Given the description of an element on the screen output the (x, y) to click on. 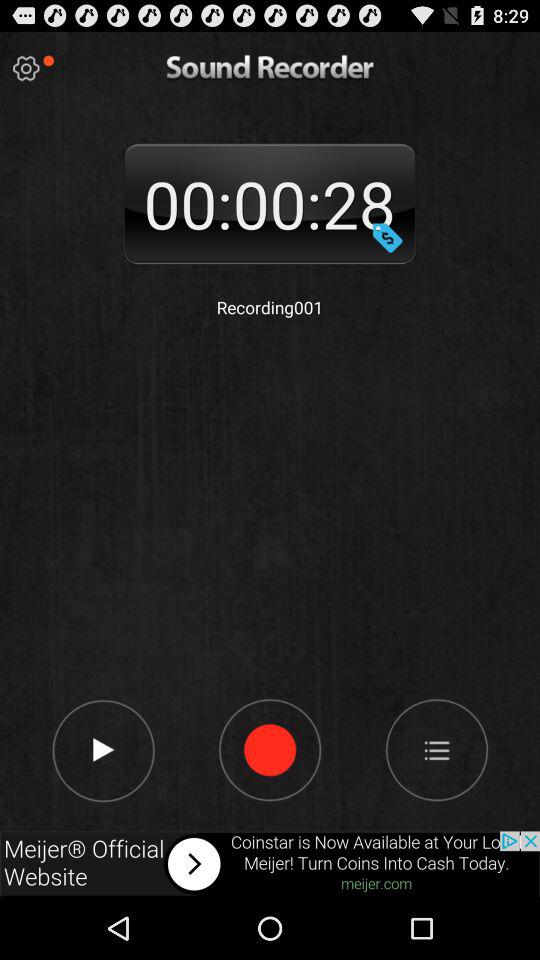
change date and time (387, 237)
